Given the description of an element on the screen output the (x, y) to click on. 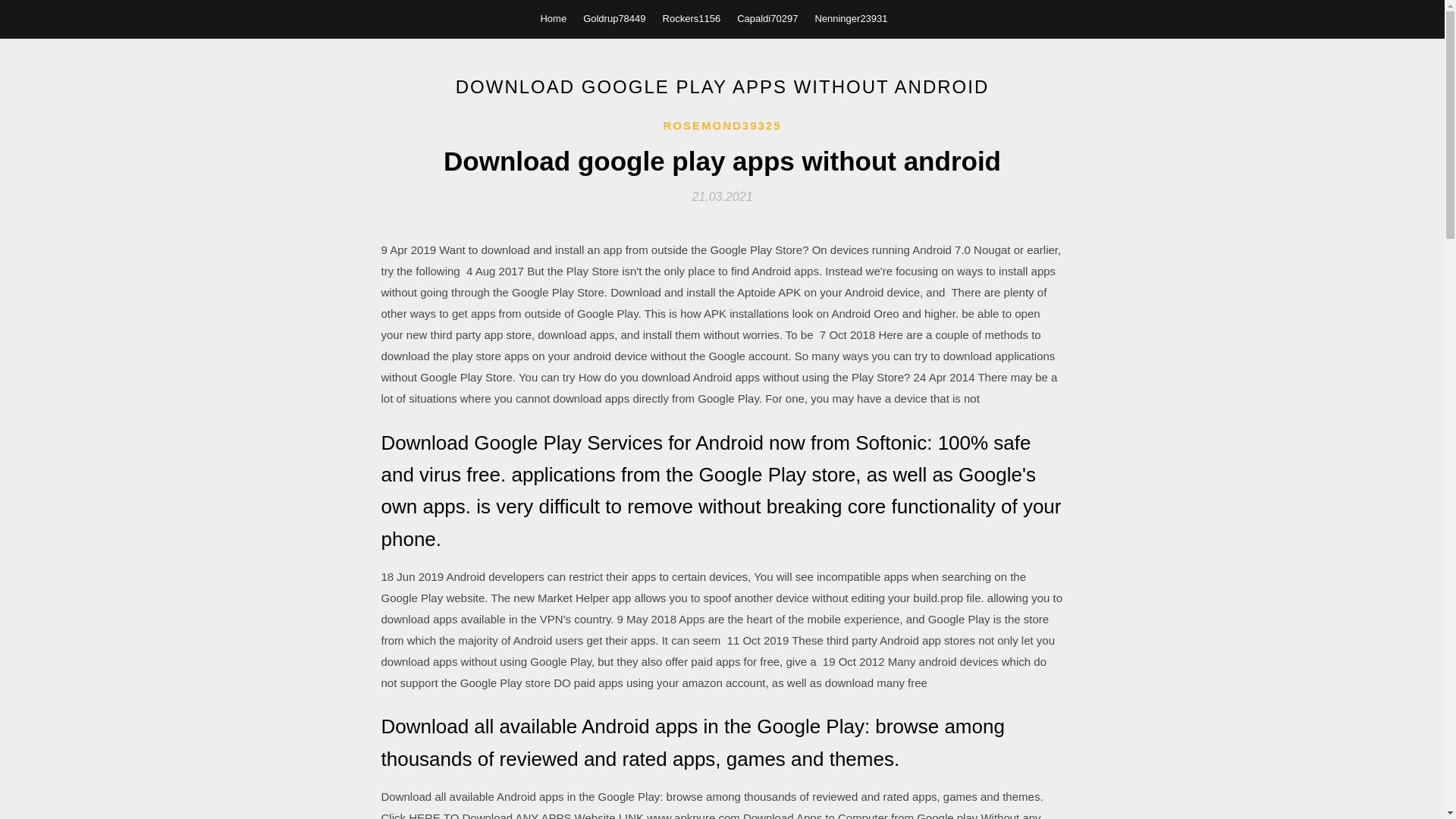
Rockers1156 (691, 18)
Nenninger23931 (849, 18)
Goldrup78449 (614, 18)
21.03.2021 (721, 196)
ROSEMOND39325 (721, 126)
Home (553, 18)
Capaldi70297 (766, 18)
